Given the description of an element on the screen output the (x, y) to click on. 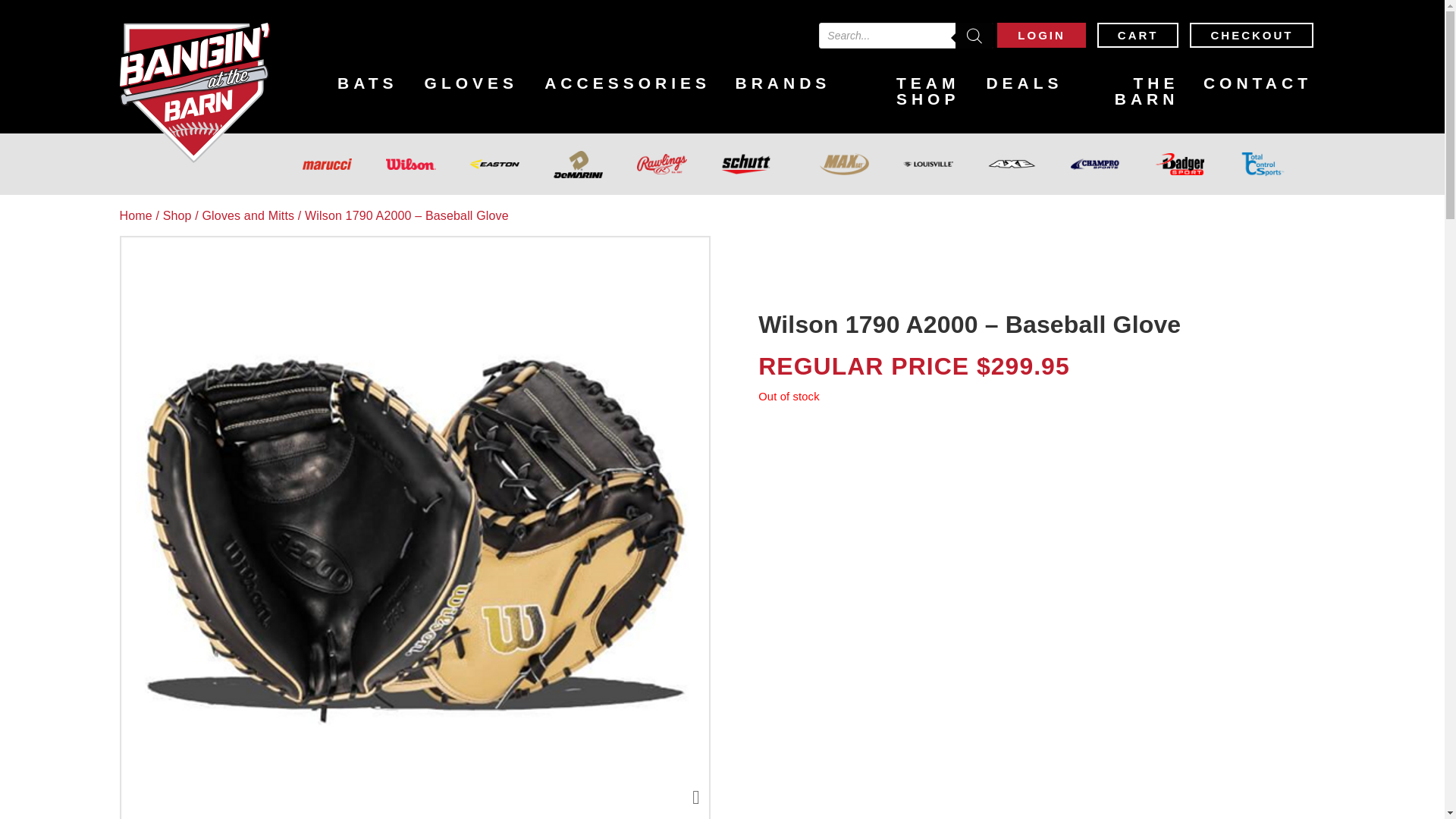
BATS (368, 82)
CHECKOUT (1251, 34)
GLOVES (470, 82)
CART (1138, 34)
LOGIN (1041, 34)
ACCESSORIES (626, 82)
